Given the description of an element on the screen output the (x, y) to click on. 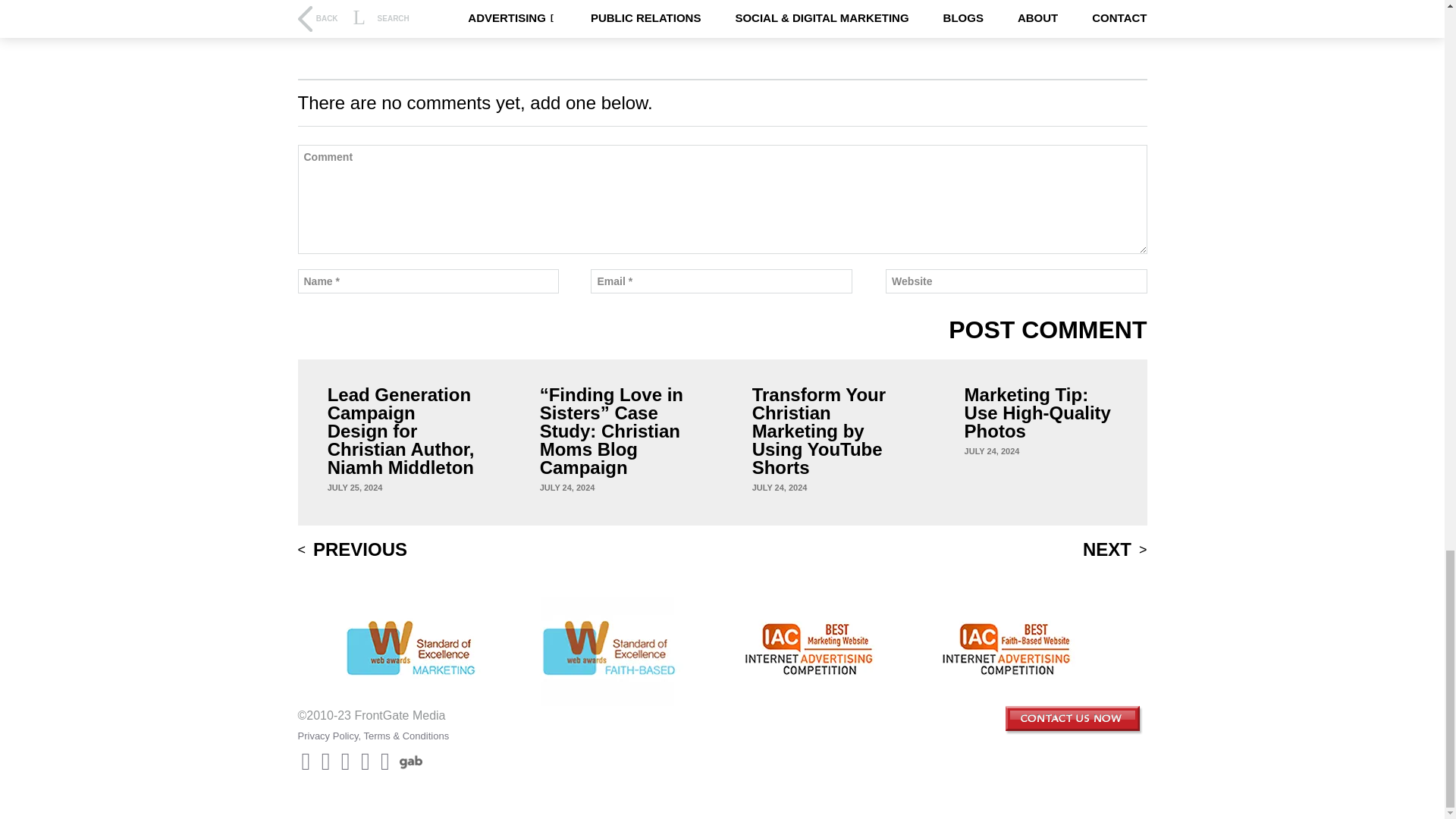
Marketing Tip: Use High-Quality Photos (1040, 412)
JULY 24, 2024 (567, 487)
JULY 24, 2024 (991, 450)
JULY 25, 2024 (354, 487)
Transform Your Christian Marketing by Using YouTube Shorts (828, 430)
Post Comment (1048, 329)
Permalink to Marketing Tip: Use High-Quality Photos (991, 450)
NEXT (1115, 549)
Page 1 (721, 18)
PREVIOUS (352, 549)
JULY 24, 2024 (780, 487)
Privacy Policy (327, 736)
